Given the description of an element on the screen output the (x, y) to click on. 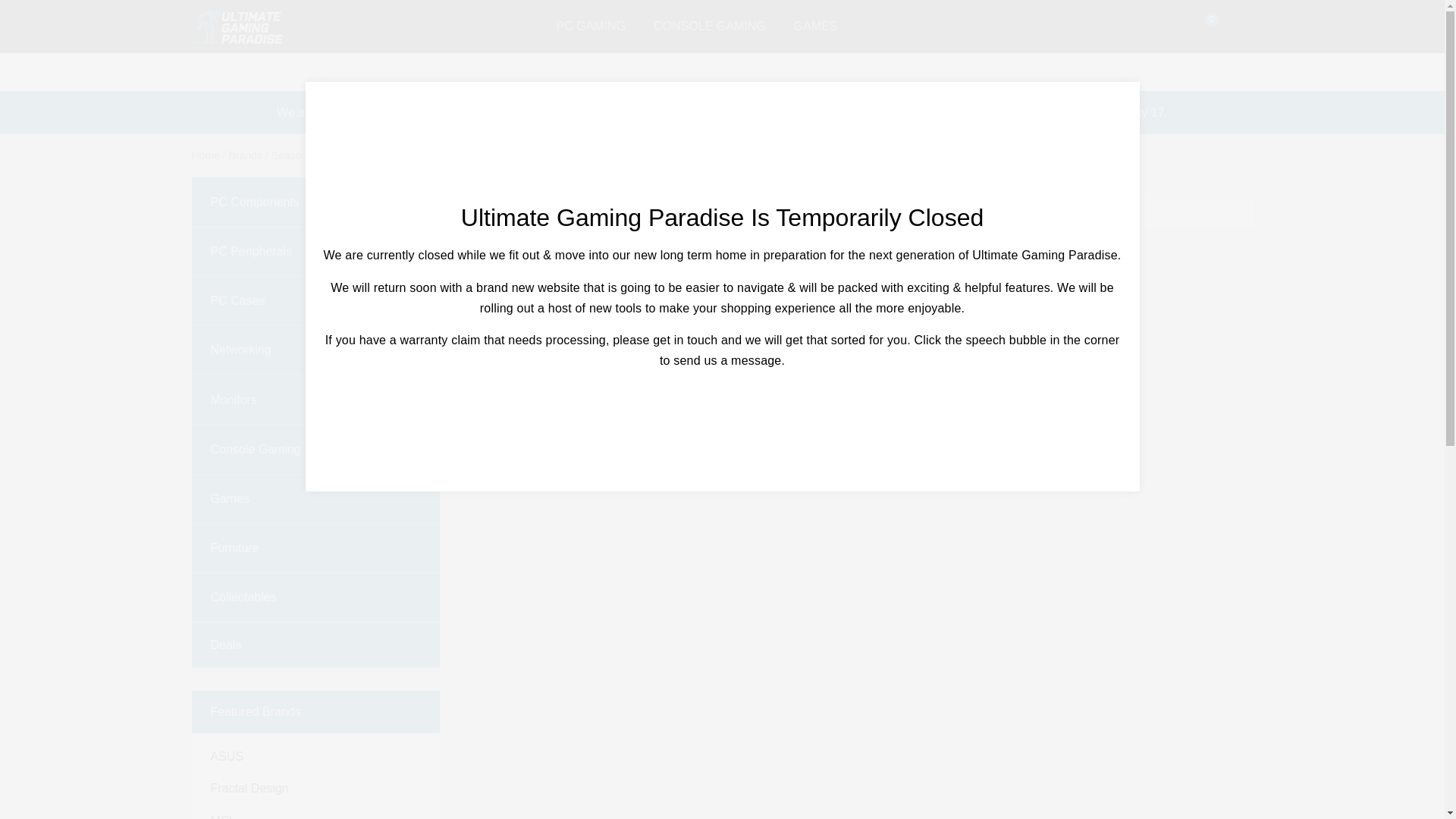
LiveChat chat widget (1397, 771)
PC GAMING (591, 25)
